Given the description of an element on the screen output the (x, y) to click on. 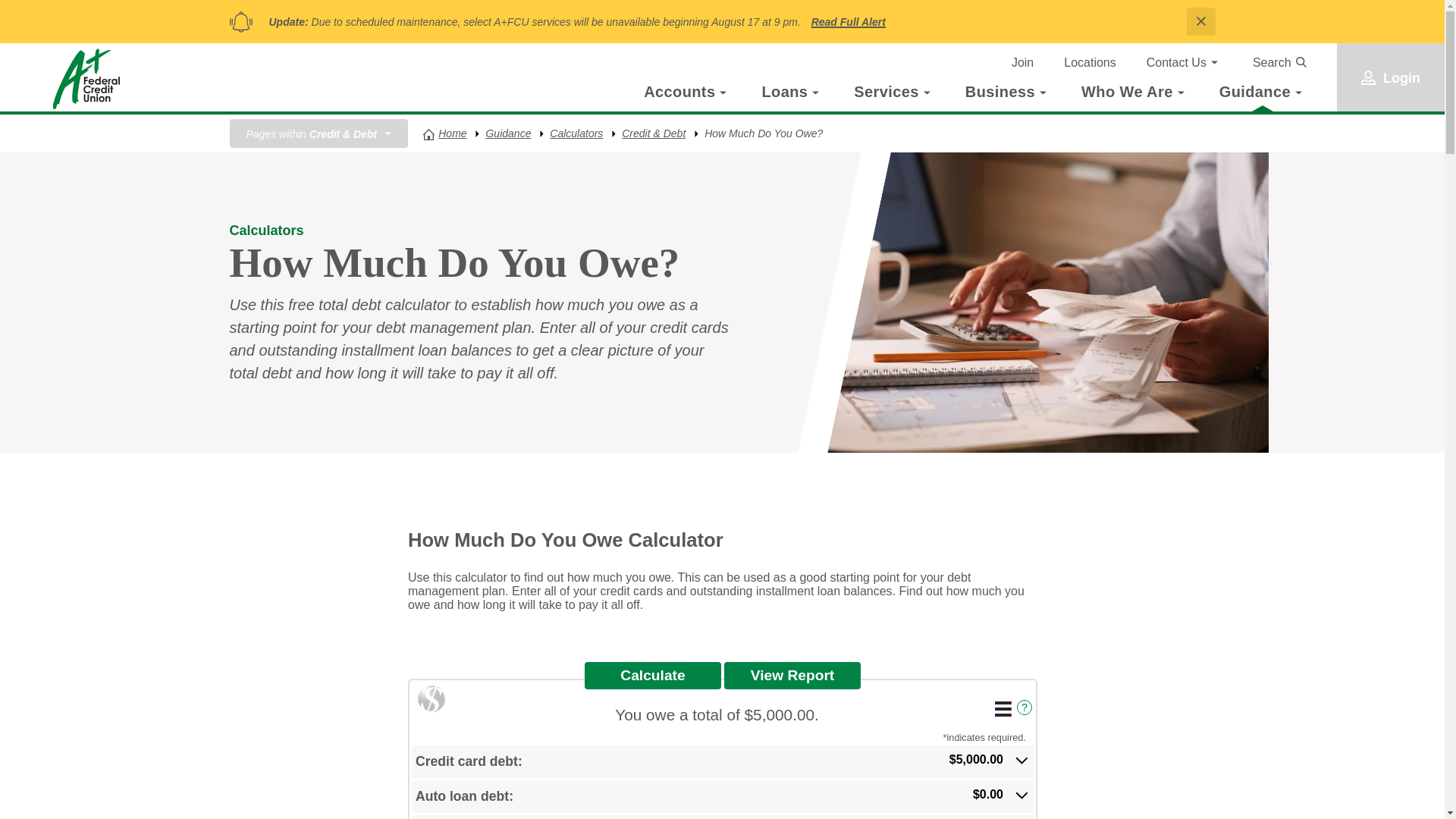
Contact Us (1177, 62)
Skip to main content (28, 28)
Accounts (678, 91)
Locations (1090, 62)
Join (1022, 62)
Go to homepage (85, 78)
Read Full Alert (847, 21)
Search (1279, 62)
